Given the description of an element on the screen output the (x, y) to click on. 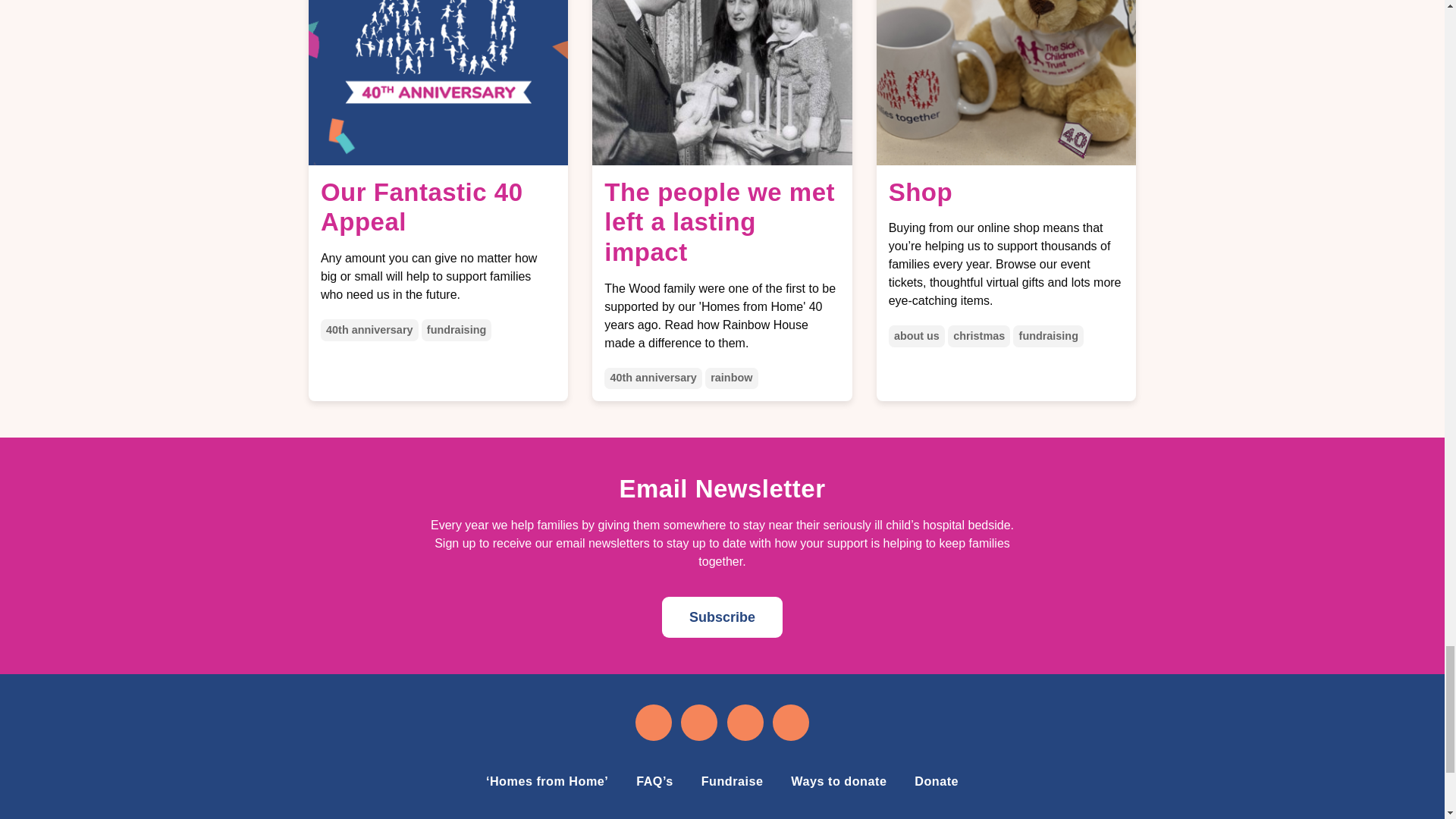
Facebook (652, 722)
Instagram (699, 722)
Youtube (790, 722)
Twitter (745, 722)
